Given the description of an element on the screen output the (x, y) to click on. 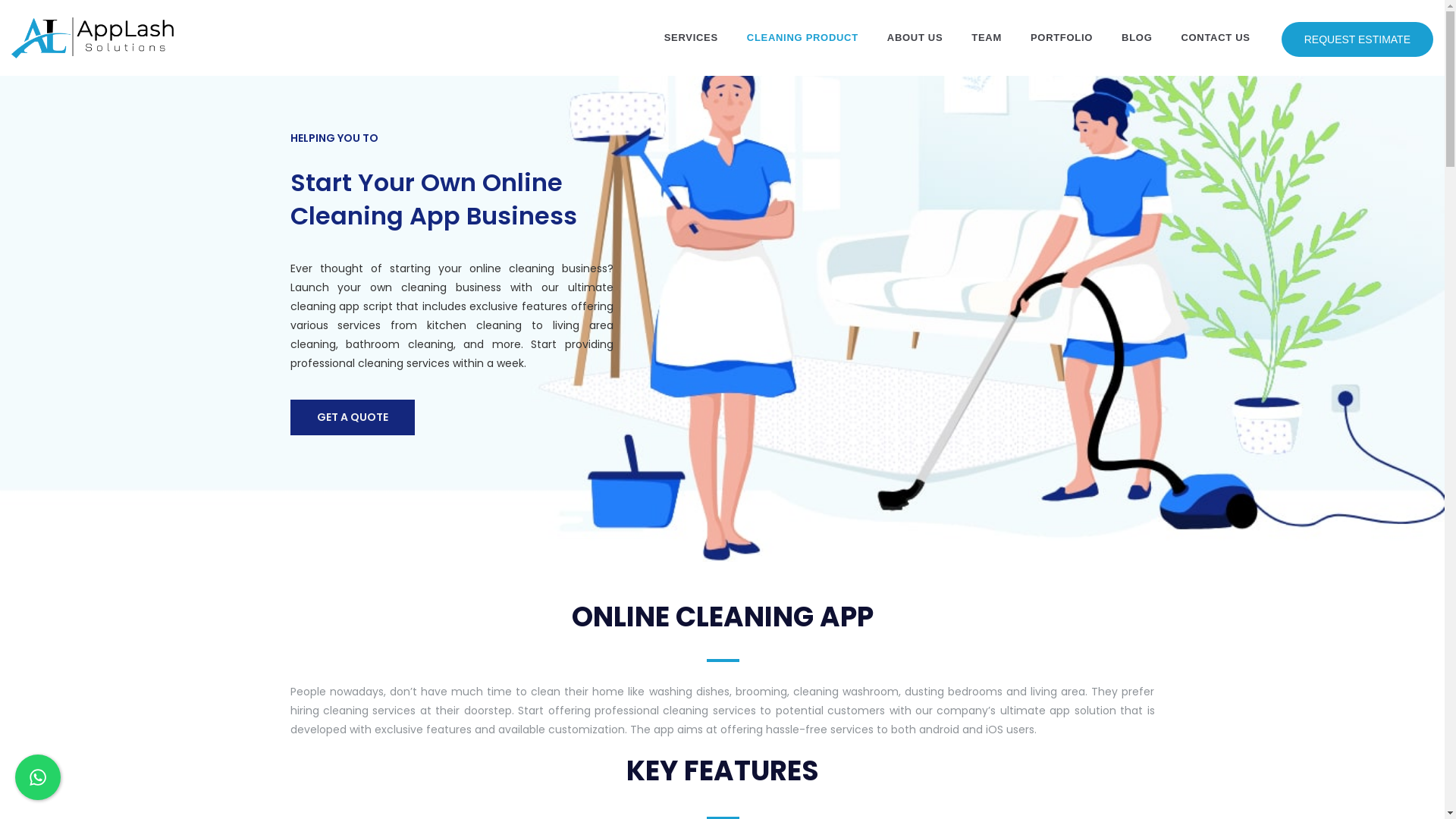
PORTFOLIO Element type: text (1061, 37)
REQUEST ESTIMATE Element type: text (1357, 38)
SERVICES Element type: text (691, 37)
CONTACT US Element type: text (1214, 37)
Applash Element type: hover (92, 37)
TEAM Element type: text (986, 37)
ABOUT US Element type: text (915, 37)
CLEANING PRODUCT Element type: text (802, 37)
BLOG Element type: text (1136, 37)
GET A QUOTE Element type: text (351, 417)
